Given the description of an element on the screen output the (x, y) to click on. 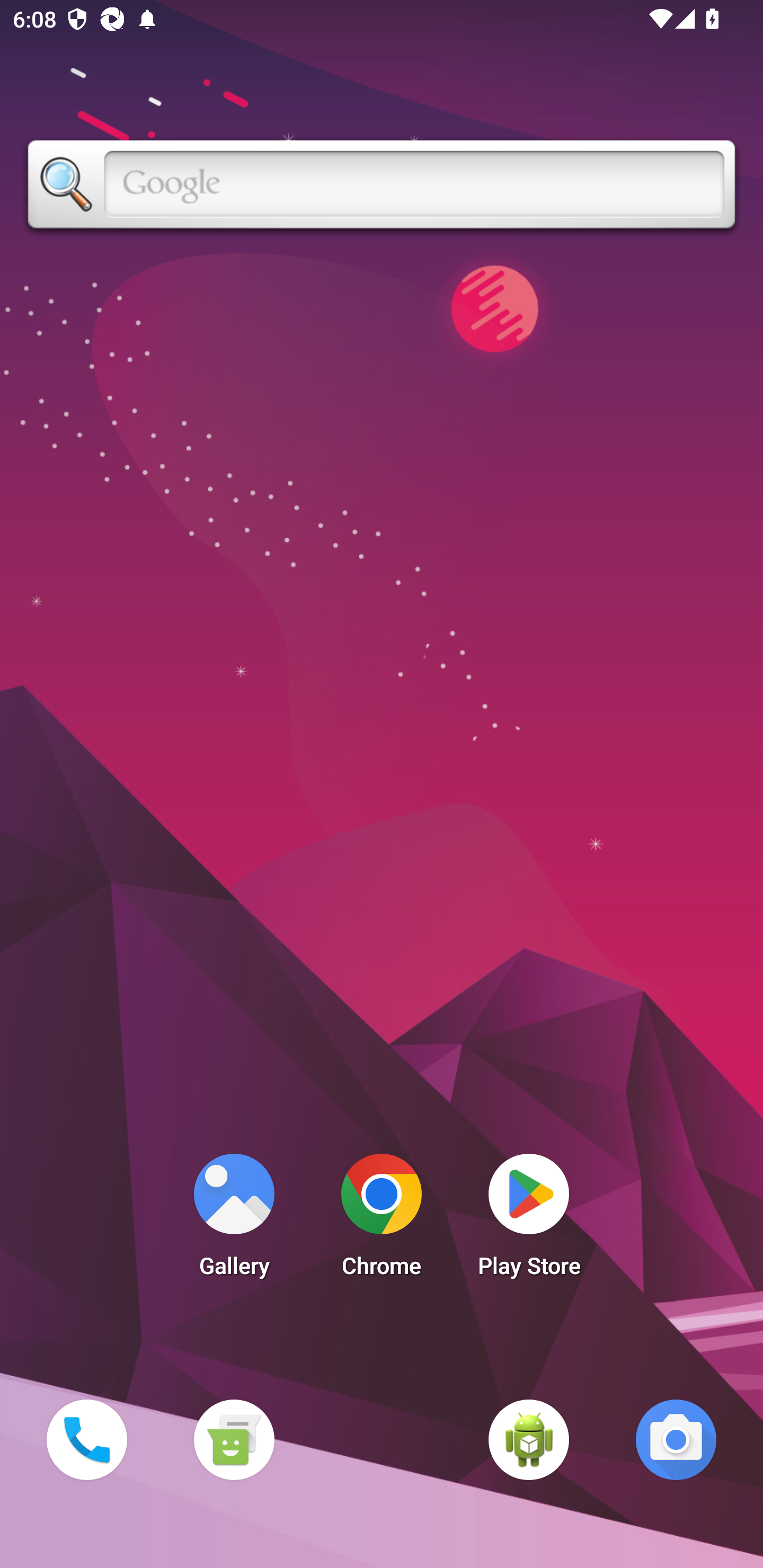
Gallery (233, 1220)
Chrome (381, 1220)
Play Store (528, 1220)
Phone (86, 1439)
Messaging (233, 1439)
WebView Browser Tester (528, 1439)
Camera (676, 1439)
